Given the description of an element on the screen output the (x, y) to click on. 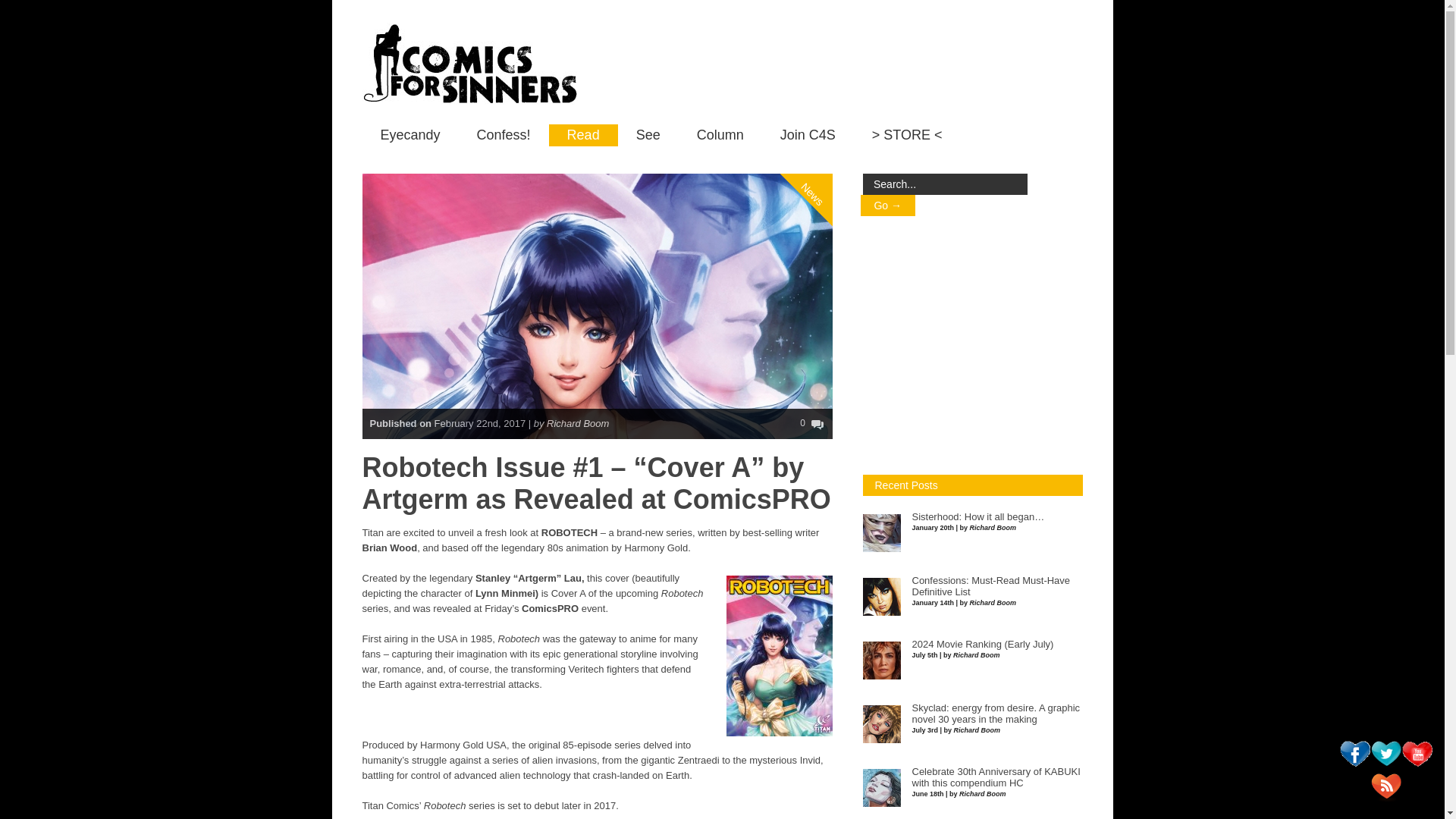
Join C4S (807, 135)
Confess! (503, 135)
Search... (945, 183)
Search... (945, 183)
Eyecandy (410, 135)
Read (582, 135)
See (647, 135)
Column (719, 135)
News (828, 132)
Confessions: Must-Read Must-Have Definitive List (990, 586)
Celebrate 30th Anniversary of KABUKI with this compendium HC (995, 777)
